Given the description of an element on the screen output the (x, y) to click on. 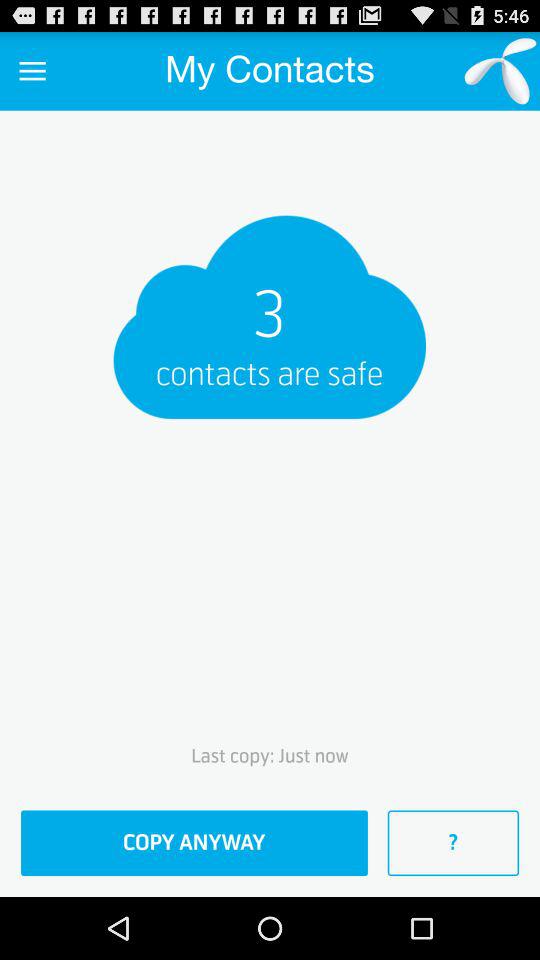
choose the item to the right of copy anyway (453, 843)
